Given the description of an element on the screen output the (x, y) to click on. 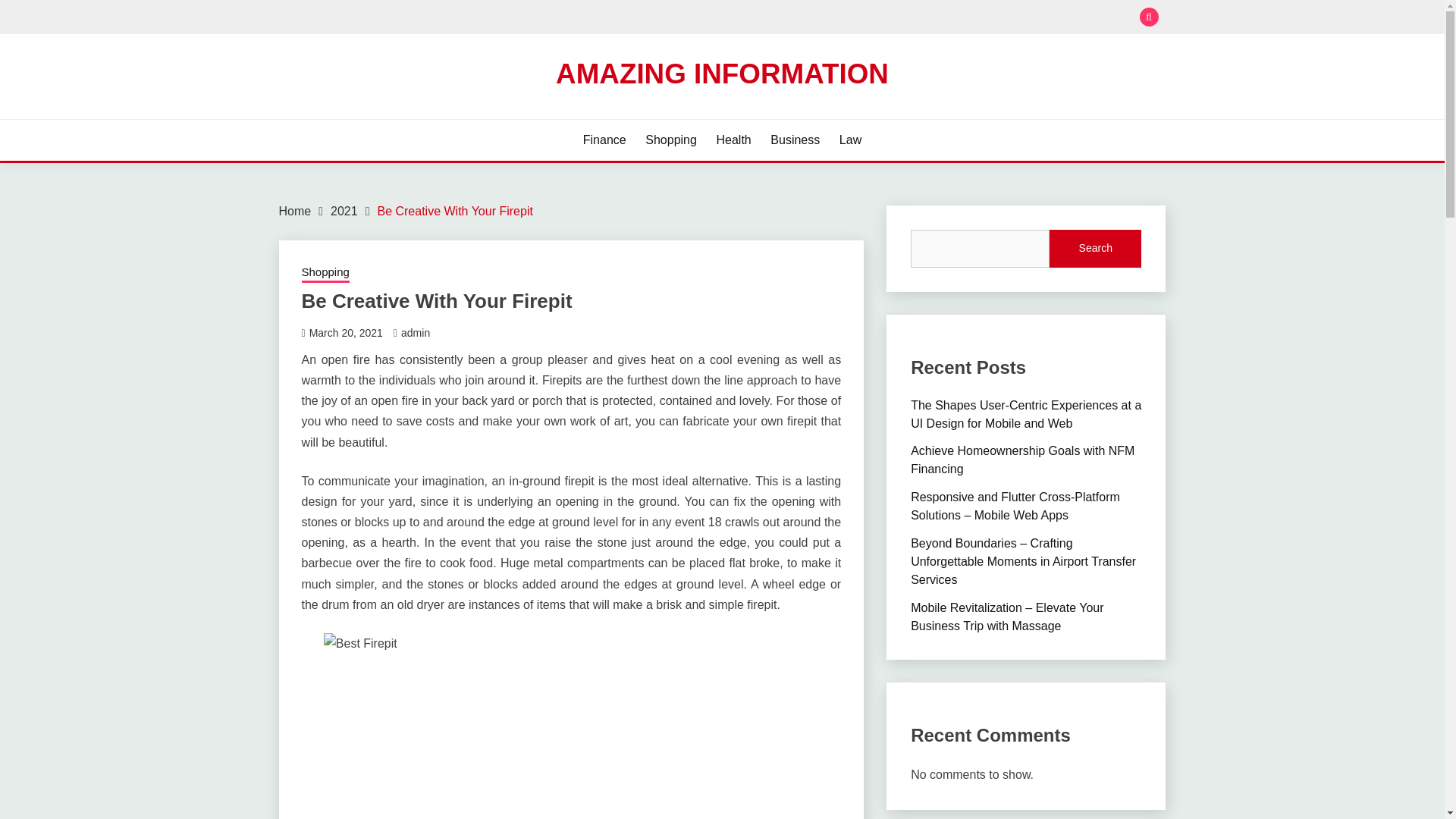
AMAZING INFORMATION (722, 73)
Home (295, 210)
Search (1095, 248)
Achieve Homeownership Goals with NFM Financing (1022, 459)
2021 (344, 210)
Law (850, 140)
Finance (604, 140)
March 20, 2021 (345, 332)
Search (832, 18)
Health (733, 140)
Shopping (325, 273)
Business (794, 140)
Shopping (671, 140)
Be Creative With Your Firepit (454, 210)
